Given the description of an element on the screen output the (x, y) to click on. 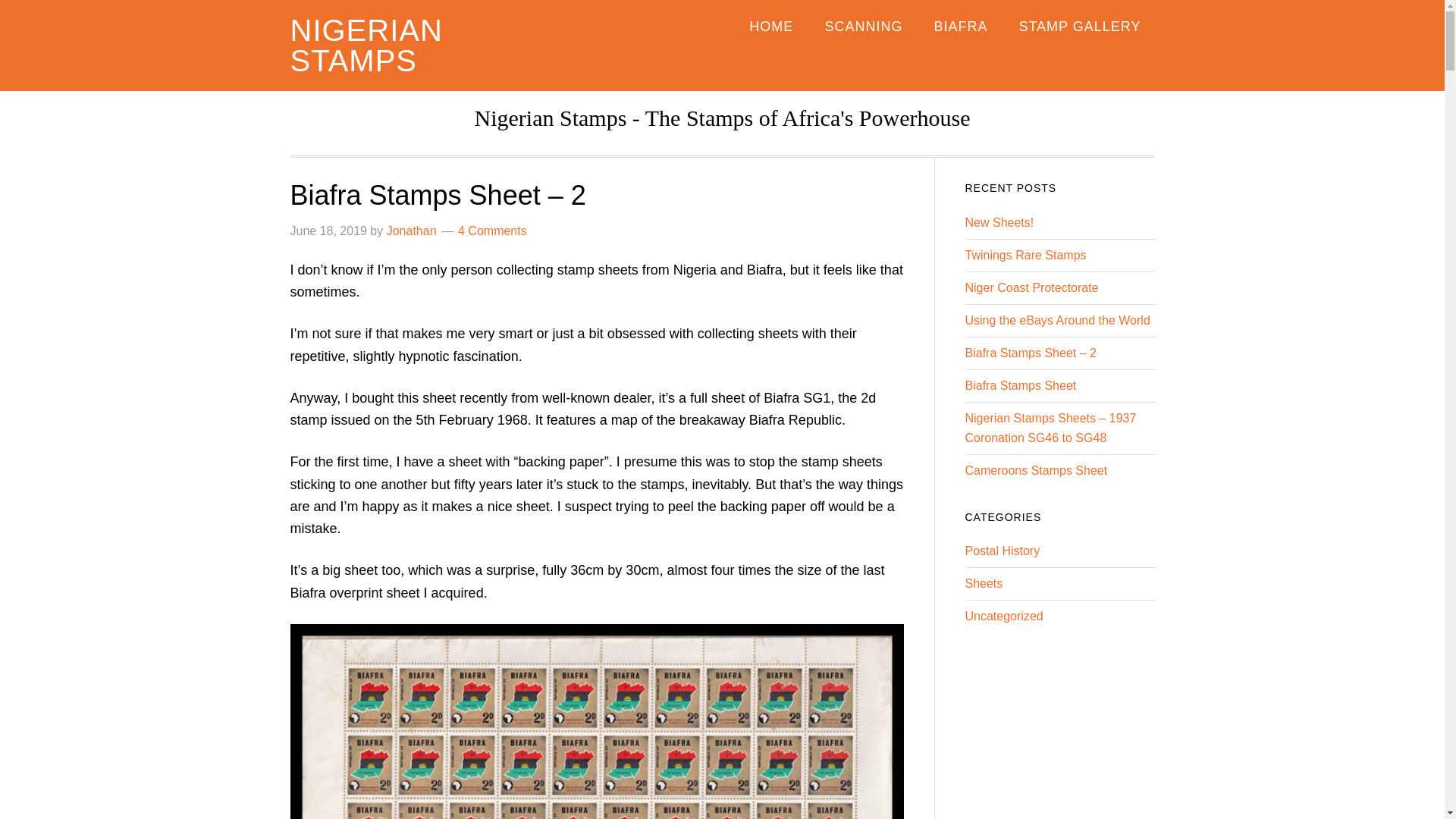
NIGERIAN STAMPS (365, 44)
STAMP GALLERY (1079, 26)
Jonathan (411, 230)
SCANNING (862, 26)
BIAFRA (960, 26)
HOME (770, 26)
4 Comments (492, 230)
